Given the description of an element on the screen output the (x, y) to click on. 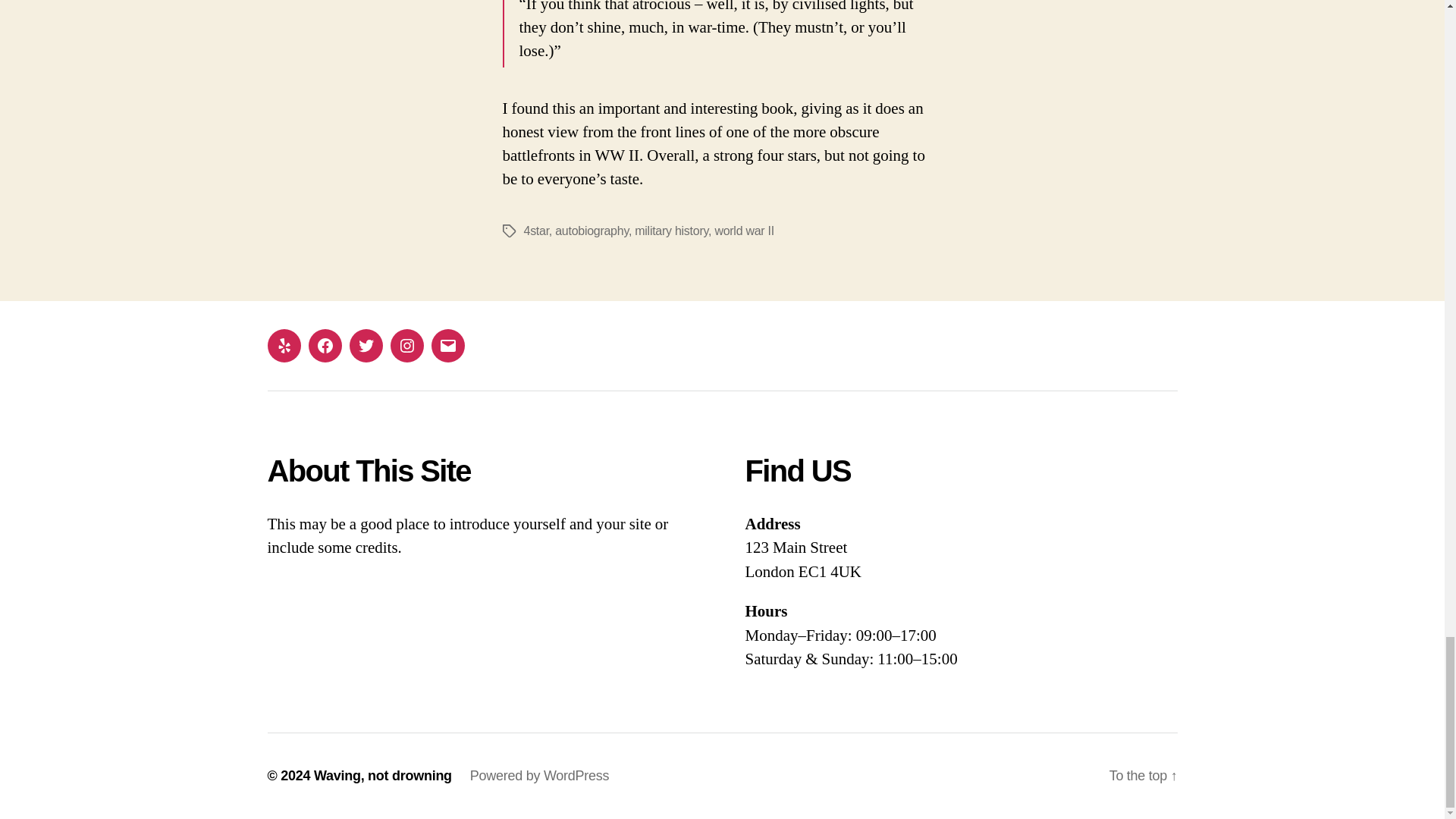
Instagram (406, 345)
Twitter (365, 345)
Facebook (323, 345)
4star (535, 230)
military history (670, 230)
Yelp (282, 345)
Email (447, 345)
world war II (744, 230)
autobiography (591, 230)
Waving, not drowning (382, 775)
